Given the description of an element on the screen output the (x, y) to click on. 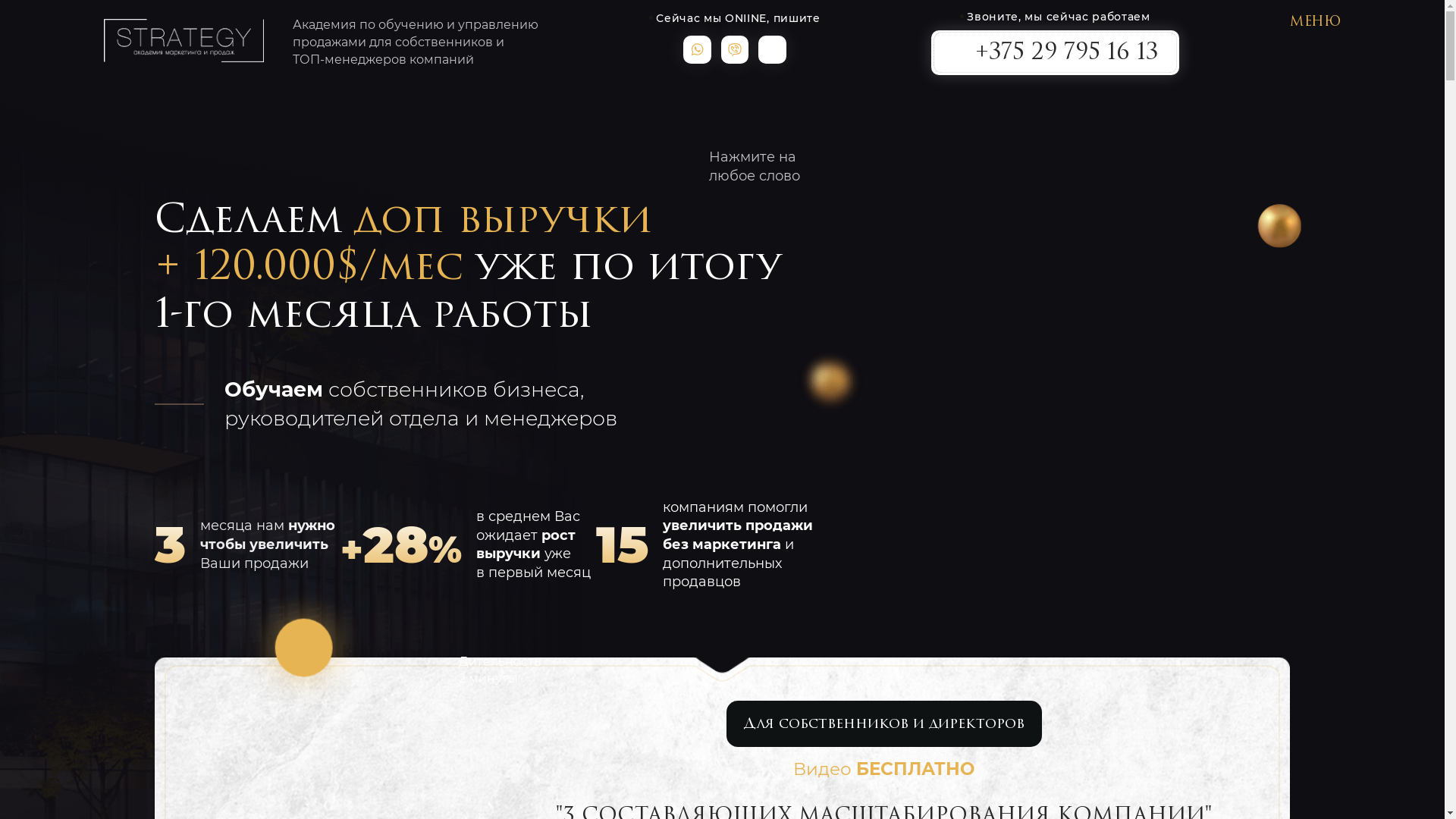
+375 29 795 16 13 Element type: text (1055, 54)
